Given the description of an element on the screen output the (x, y) to click on. 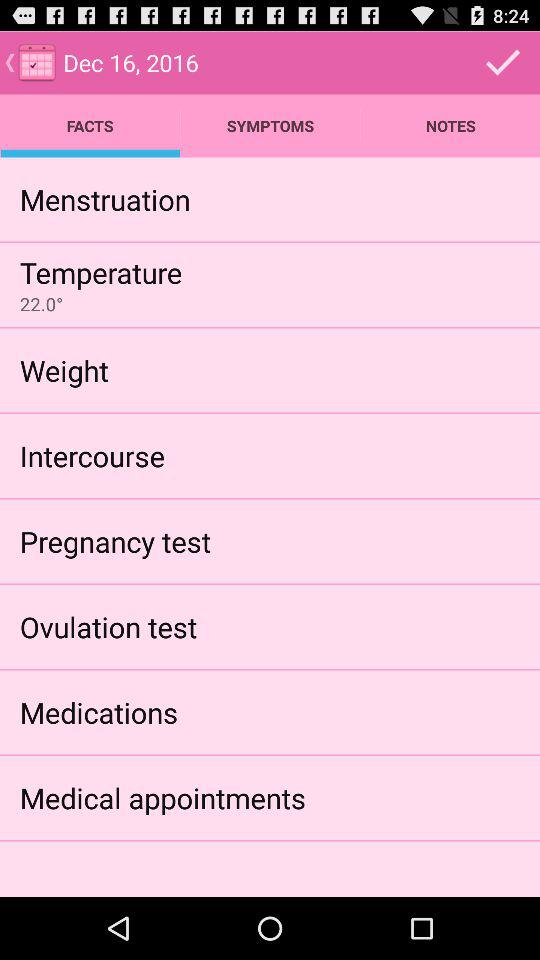
jump to ovulation test app (108, 626)
